Given the description of an element on the screen output the (x, y) to click on. 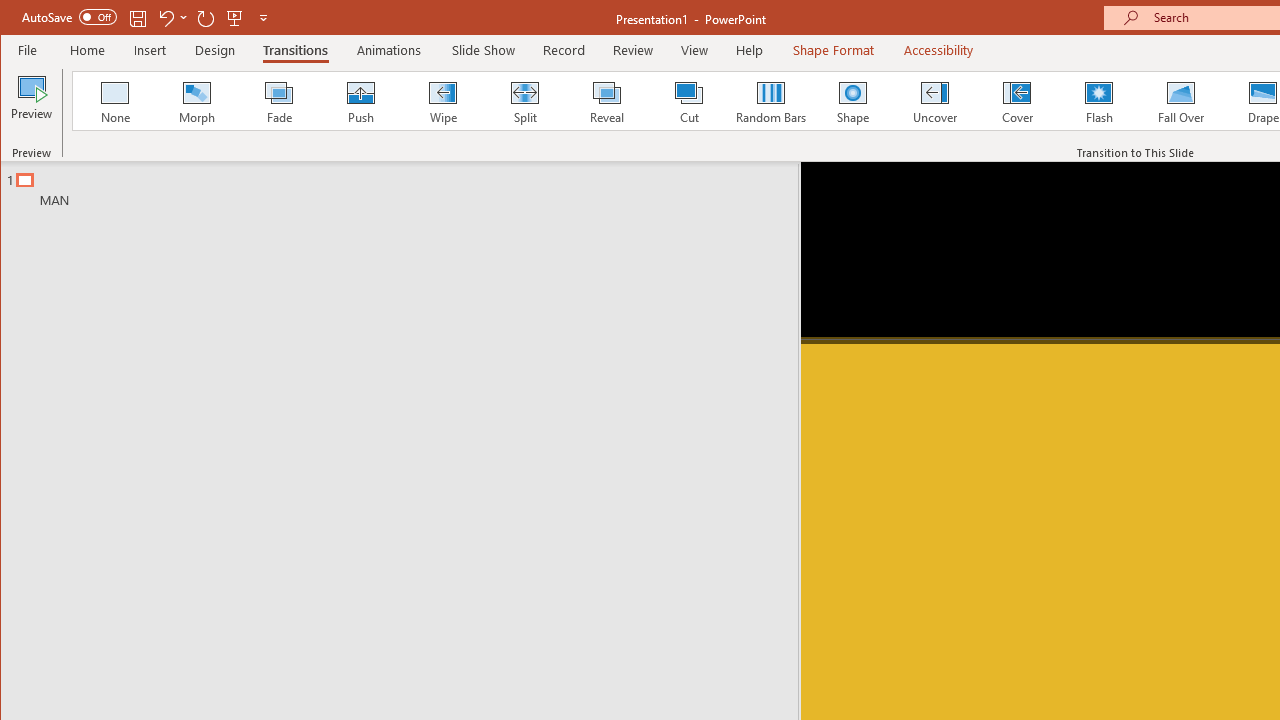
Flash (1099, 100)
Reveal (606, 100)
